Given the description of an element on the screen output the (x, y) to click on. 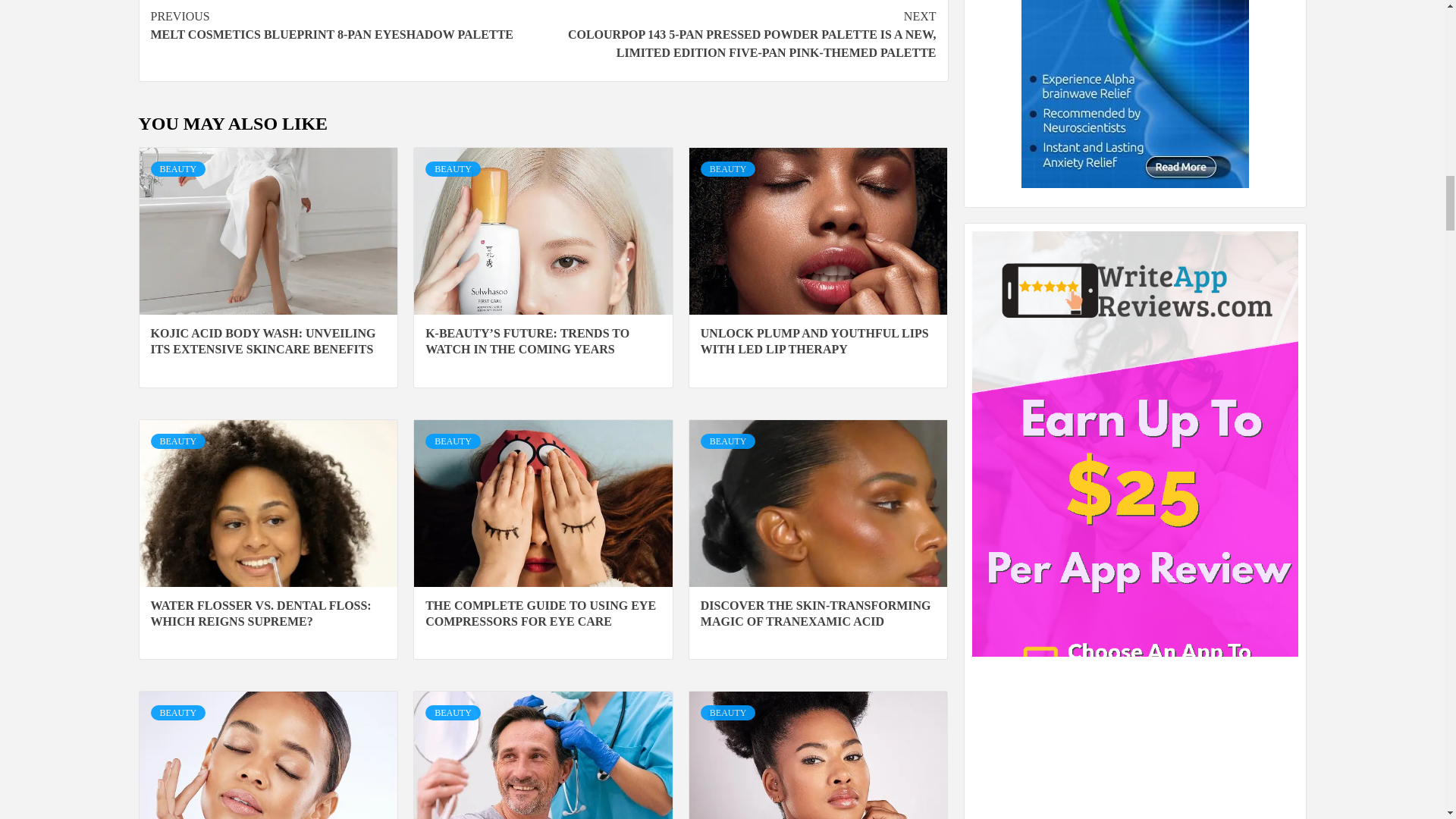
BEAUTY (452, 168)
BEAUTY (346, 25)
